Given the description of an element on the screen output the (x, y) to click on. 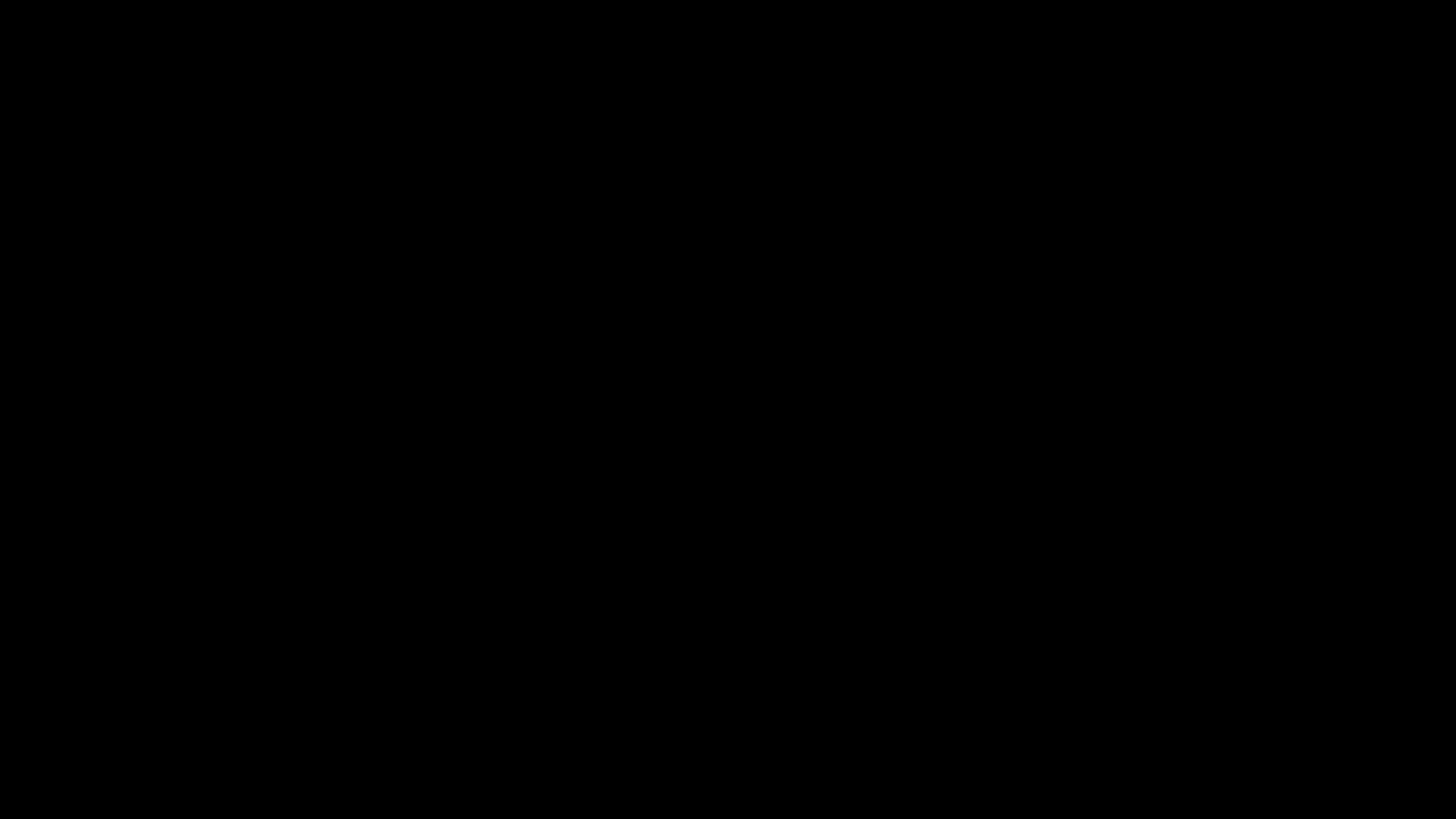
Home Element type: text (394, 410)
Share Gallery Element type: hover (1034, 320)
About Us Element type: text (393, 477)
Pricing Element type: text (394, 509)
2B PHOTO + VIDEO Element type: text (394, 322)
Contact Us Element type: text (393, 543)
Slideshow Element type: hover (1072, 320)
Portfolio Element type: text (393, 443)
